Given the description of an element on the screen output the (x, y) to click on. 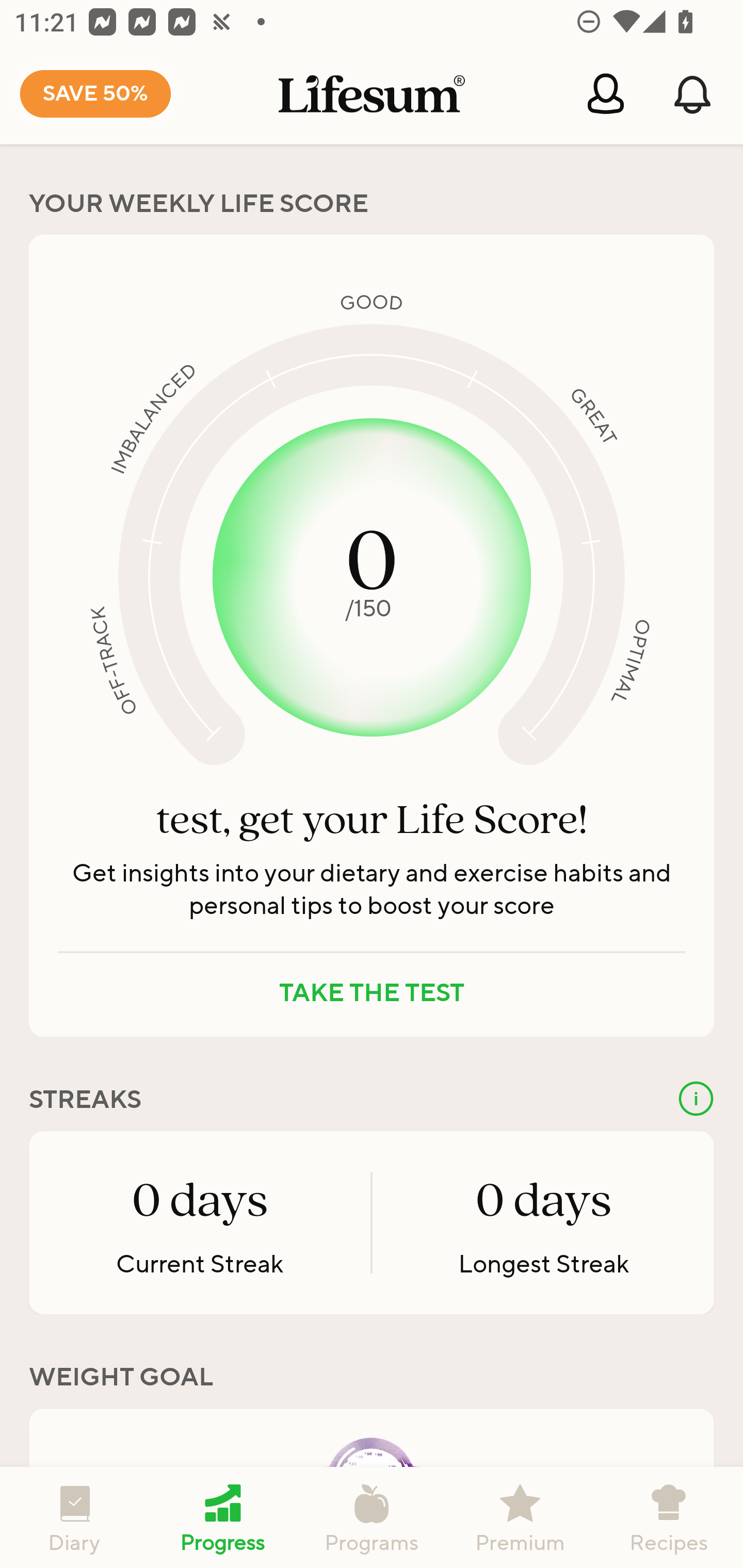
TAKE THE TEST (371, 993)
Diary (74, 1517)
Programs (371, 1517)
Premium (519, 1517)
Recipes (668, 1517)
